Given the description of an element on the screen output the (x, y) to click on. 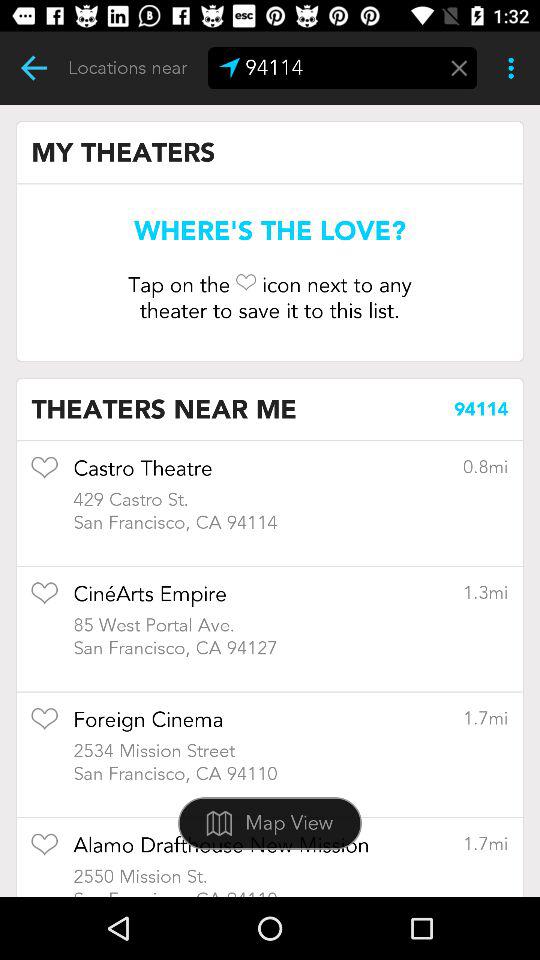
roulting (34, 67)
